Given the description of an element on the screen output the (x, y) to click on. 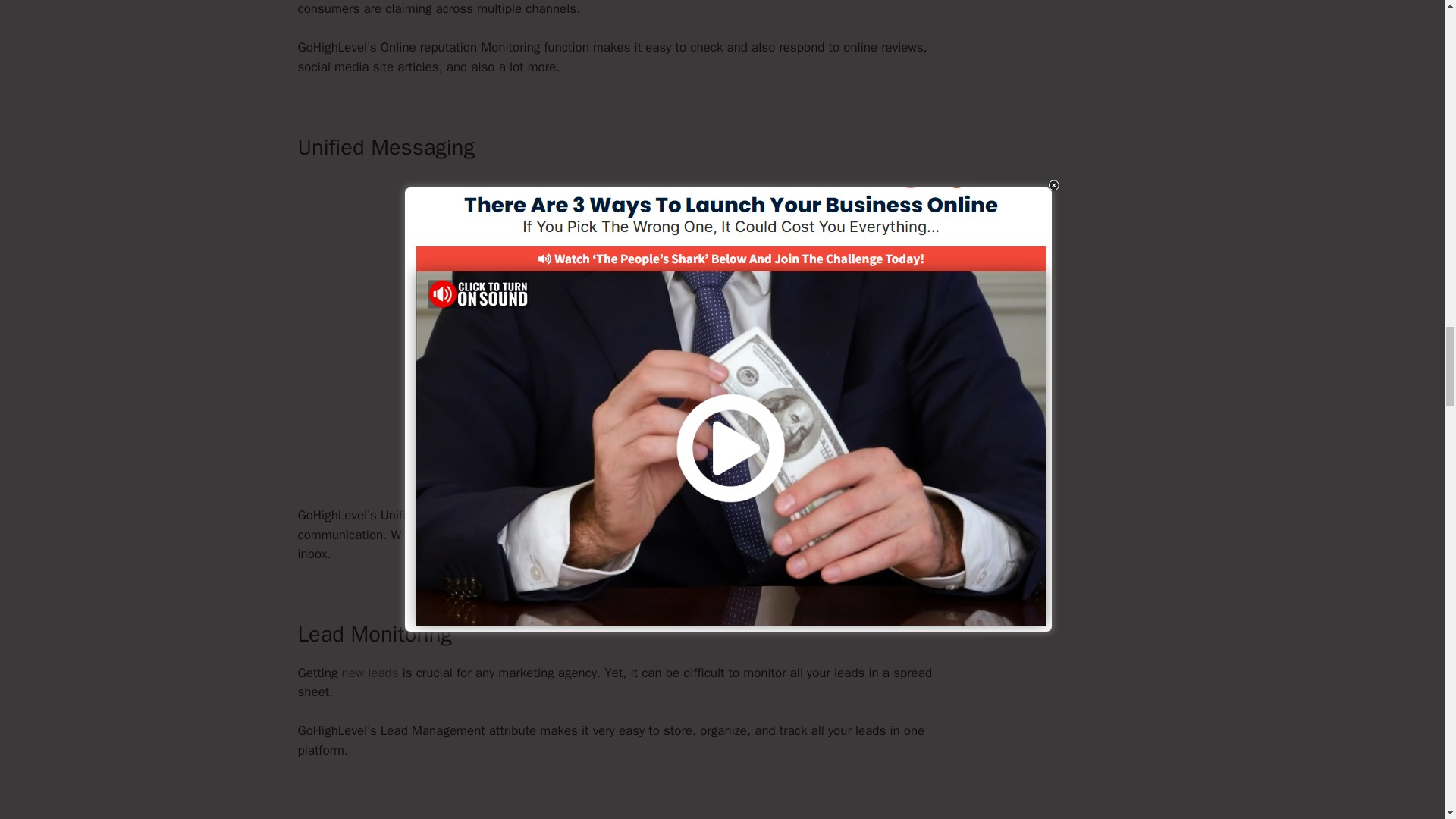
Grab Your GoHighLevel Free Account Today (622, 463)
new leads (370, 672)
YouTube video player (622, 295)
